Given the description of an element on the screen output the (x, y) to click on. 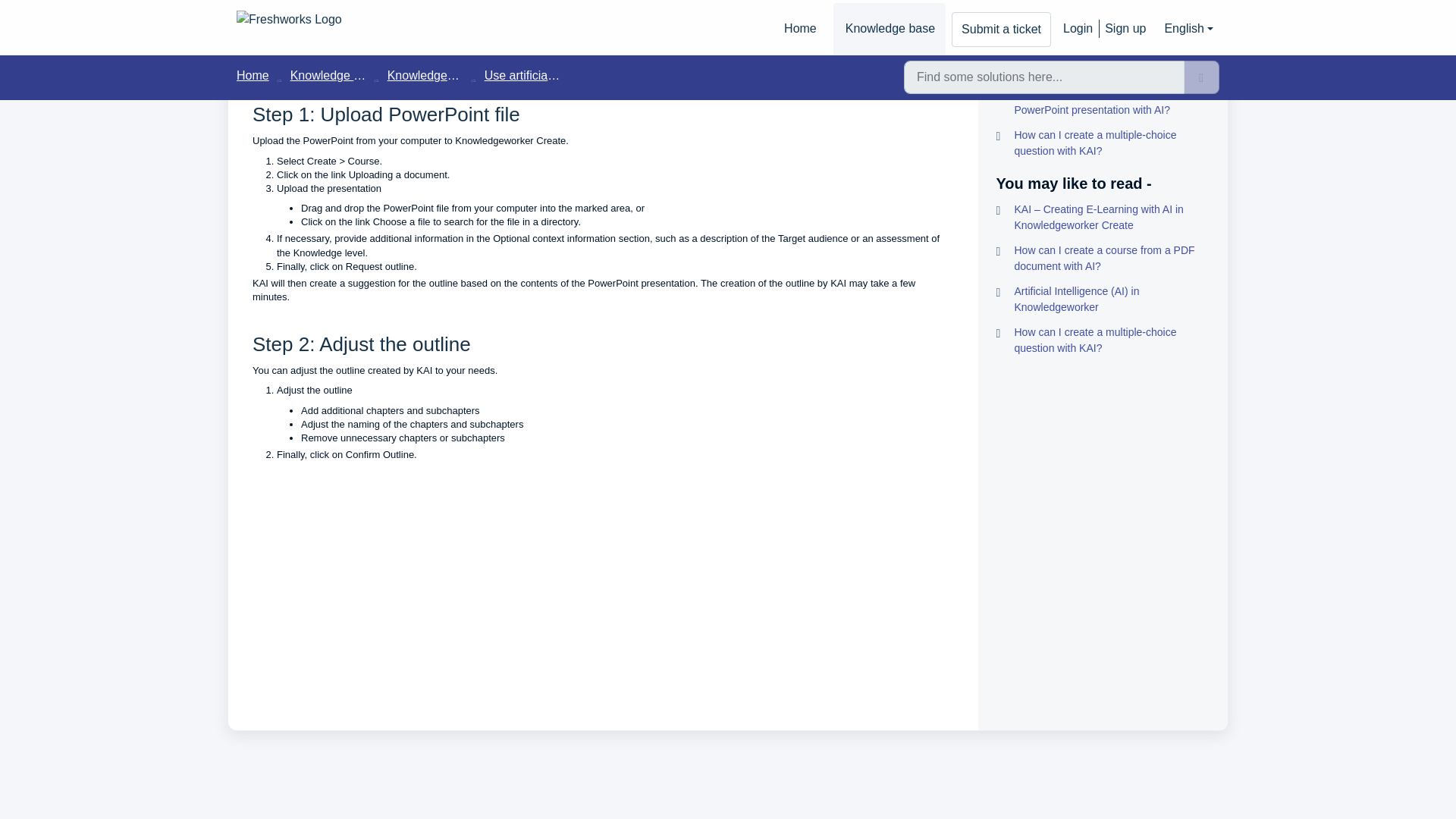
Automatic dubbing with text-to-speech (1102, 28)
How can I create a multiple-choice question with KAI? (1102, 340)
How can I create a course from a PDF document with AI? (1102, 60)
How can I create a multiple-choice question with KAI? (1102, 142)
How can I create a course from a PDF document with AI? (1102, 258)
